Given the description of an element on the screen output the (x, y) to click on. 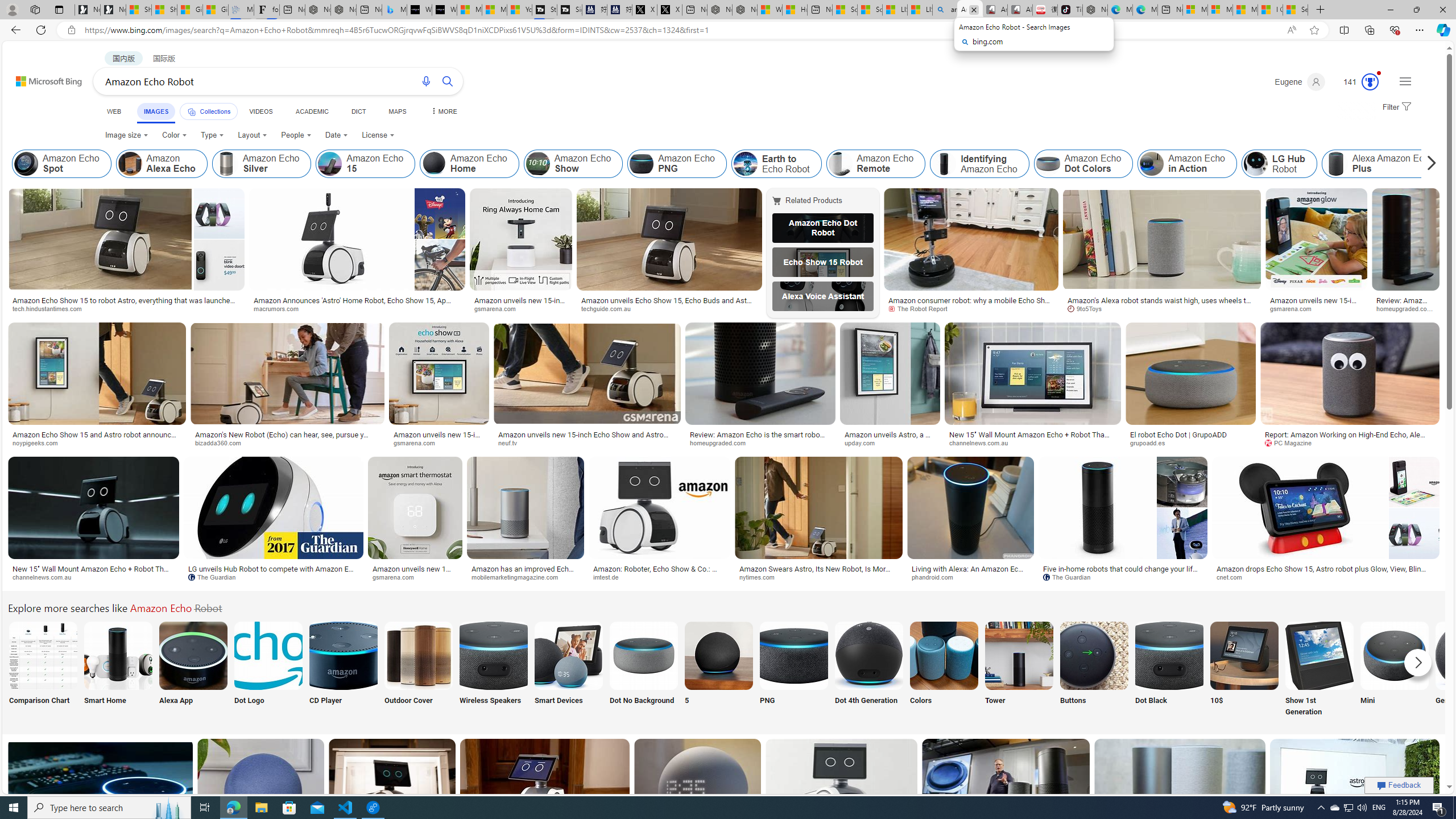
The Guardian (1122, 576)
Class: b_pri_nav_svg (191, 112)
ACADEMIC (311, 111)
Alexa App. Amazon Echo (192, 654)
gsmarena.com (397, 576)
Class: medal-circled (1369, 81)
neuf.tv (511, 442)
Amazon Echo 15 (329, 163)
neuf.tv (586, 442)
